Given the description of an element on the screen output the (x, y) to click on. 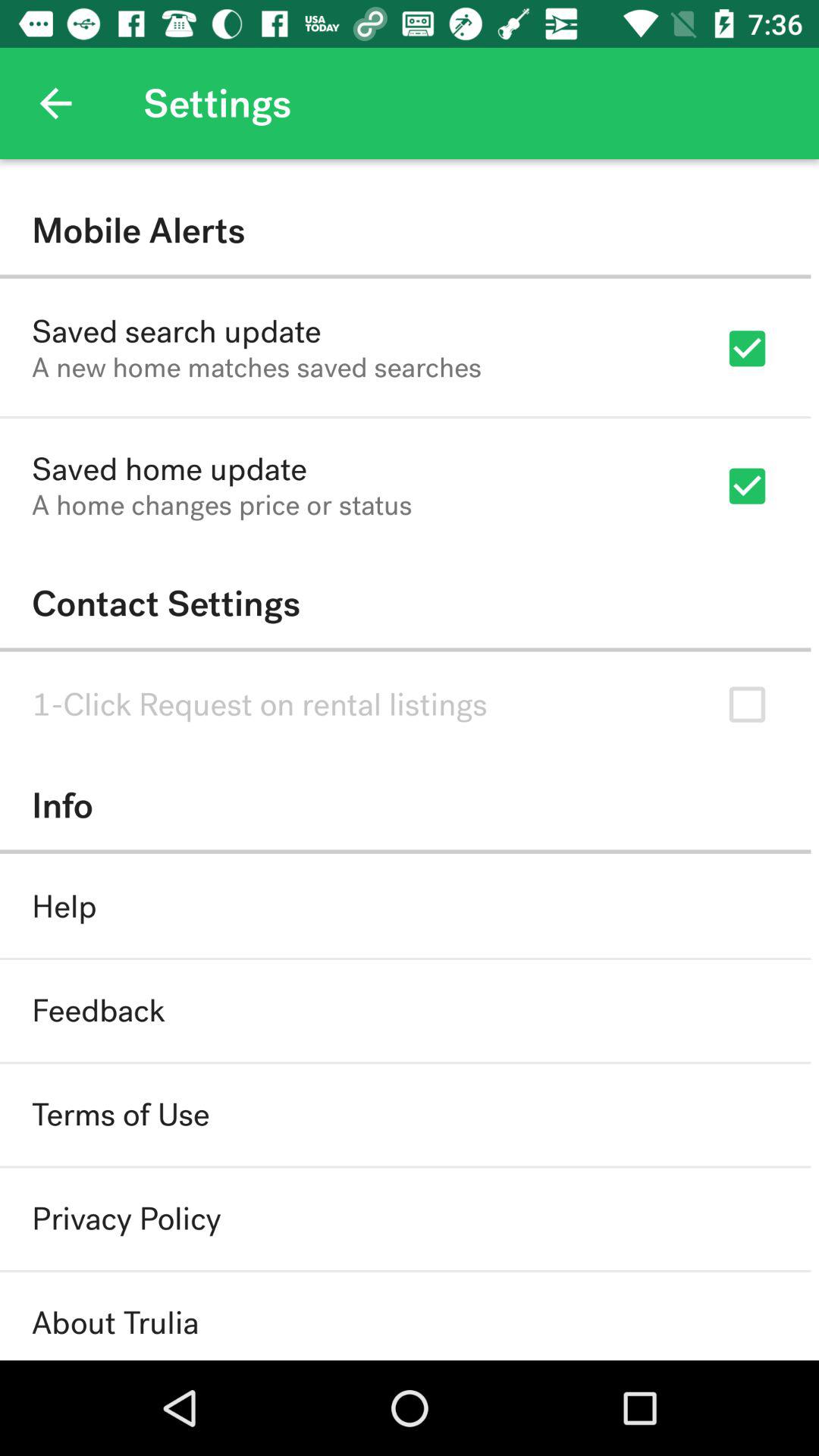
swipe to terms of use item (120, 1114)
